Given the description of an element on the screen output the (x, y) to click on. 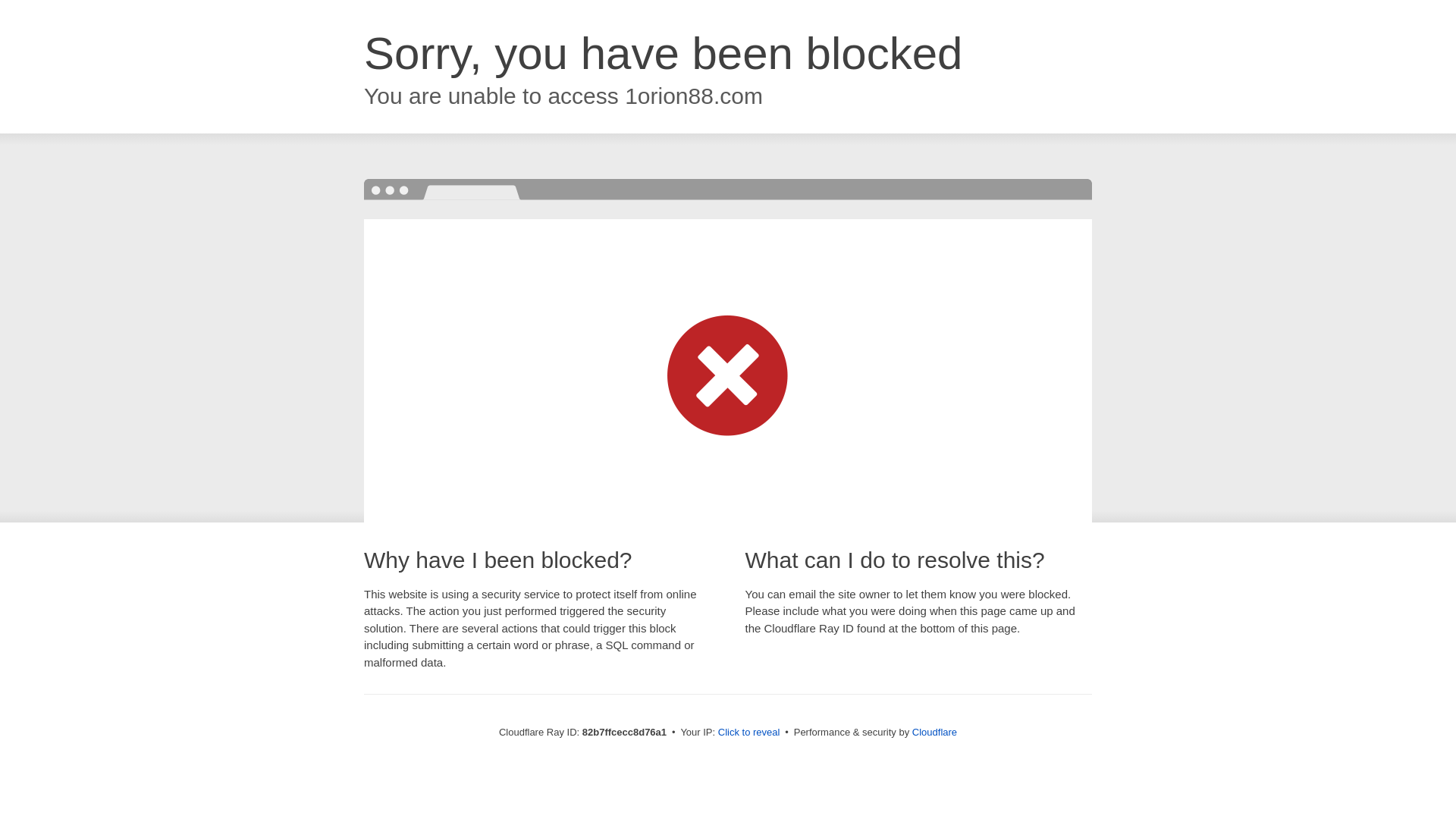
Click to reveal Element type: text (749, 732)
Cloudflare Element type: text (934, 731)
